Given the description of an element on the screen output the (x, y) to click on. 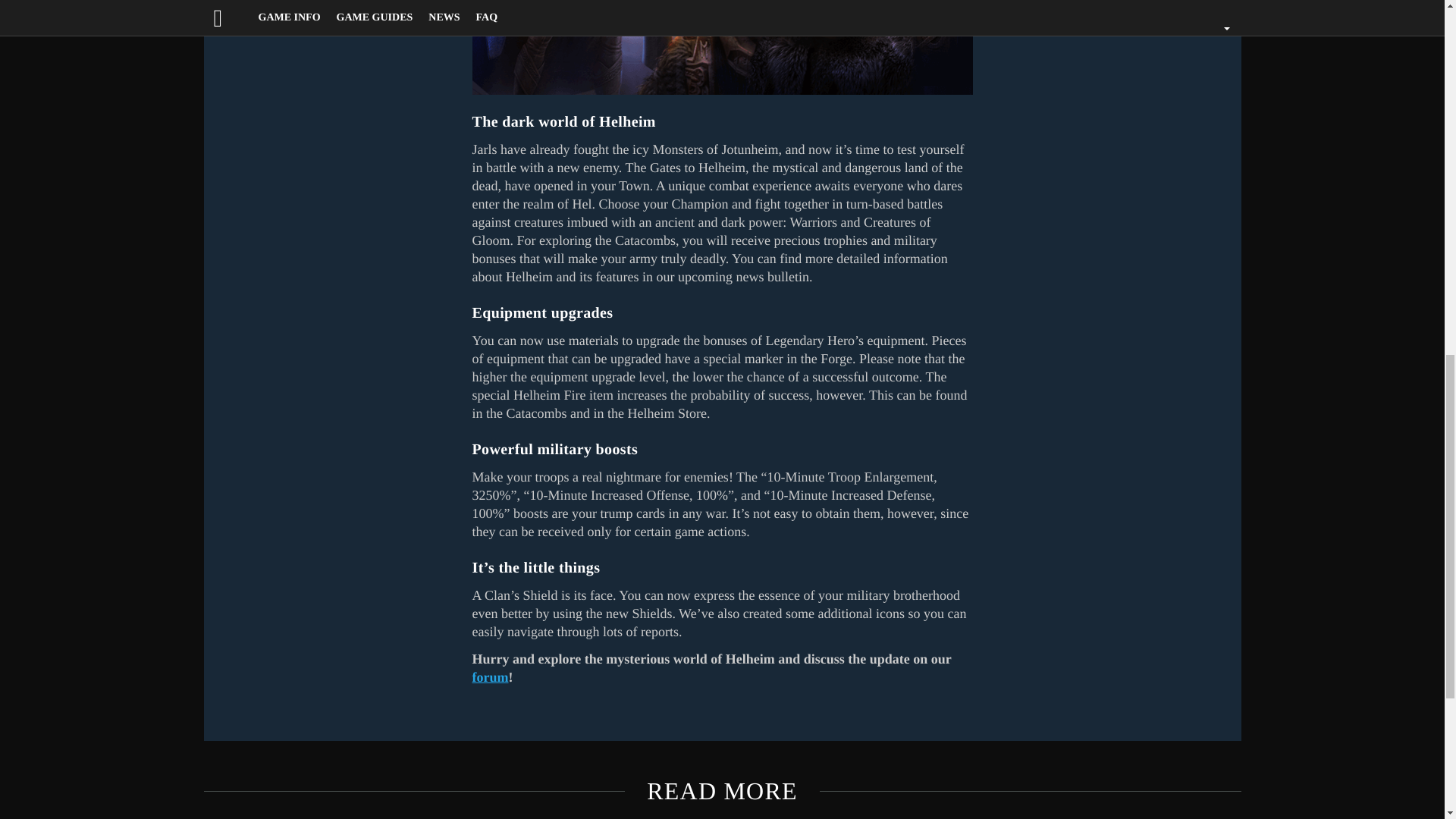
forum (489, 676)
